Given the description of an element on the screen output the (x, y) to click on. 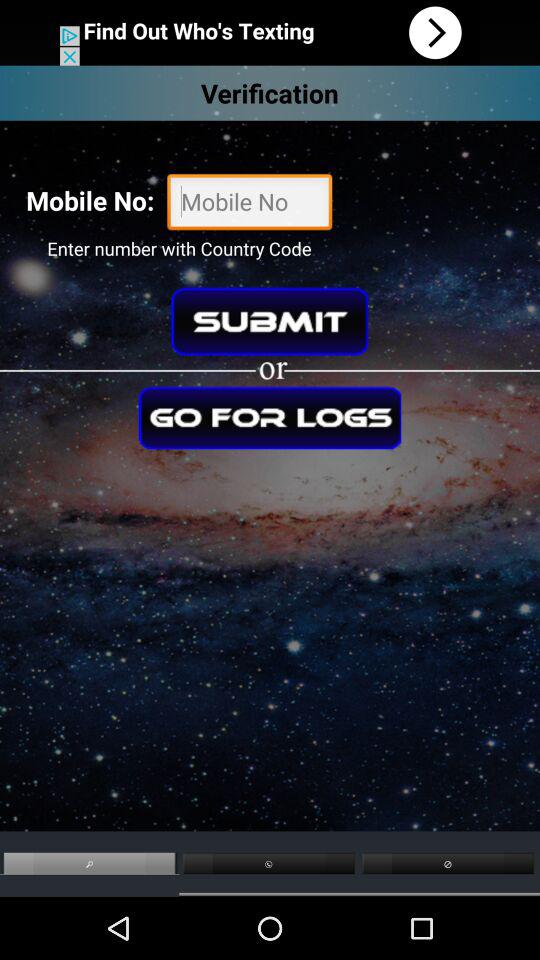
check logs (269, 417)
